Given the description of an element on the screen output the (x, y) to click on. 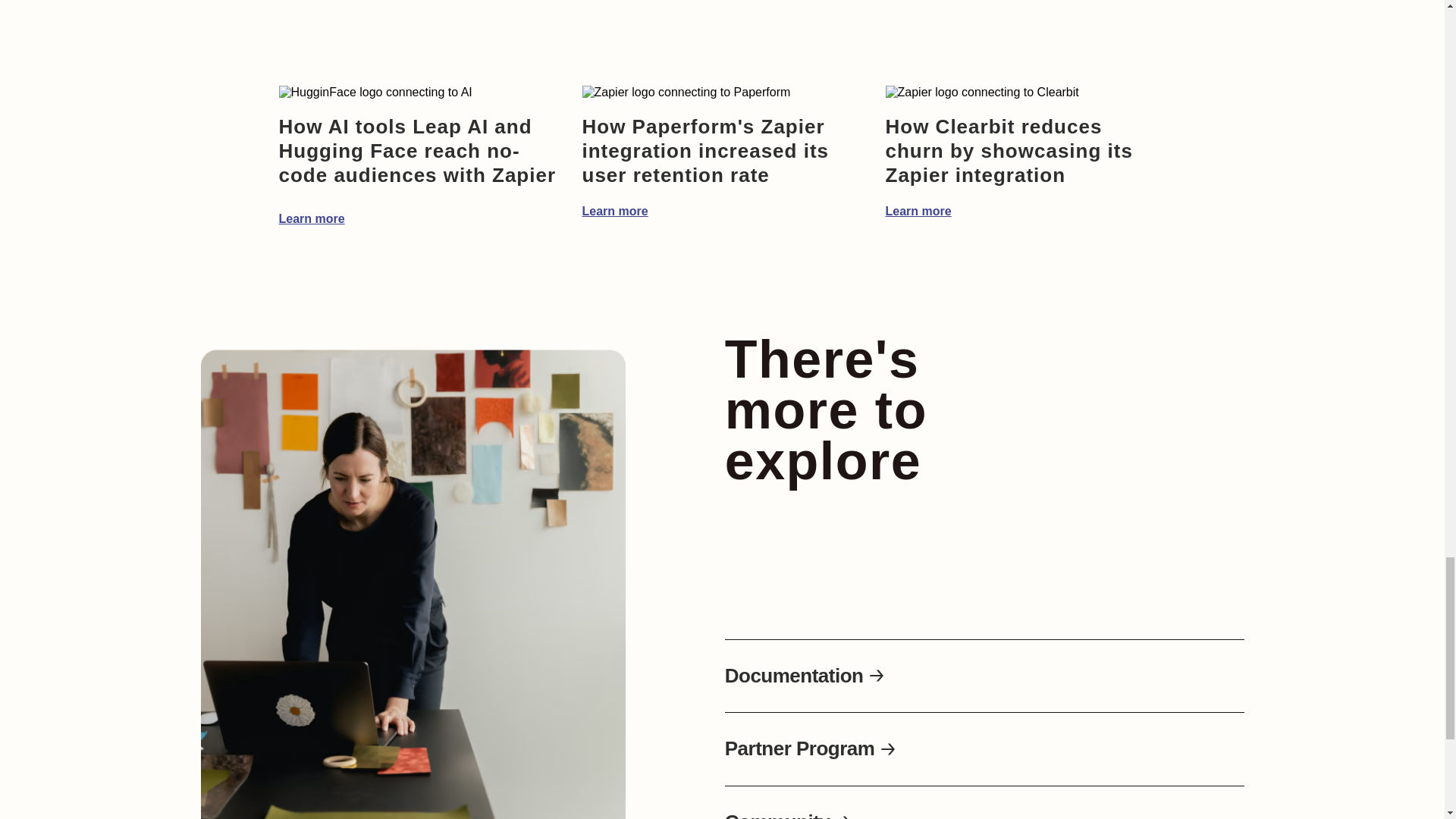
Learn more (312, 218)
Partner Program (811, 749)
Learn more (918, 211)
Learn more (614, 211)
Documentation (805, 676)
Community (789, 815)
